Given the description of an element on the screen output the (x, y) to click on. 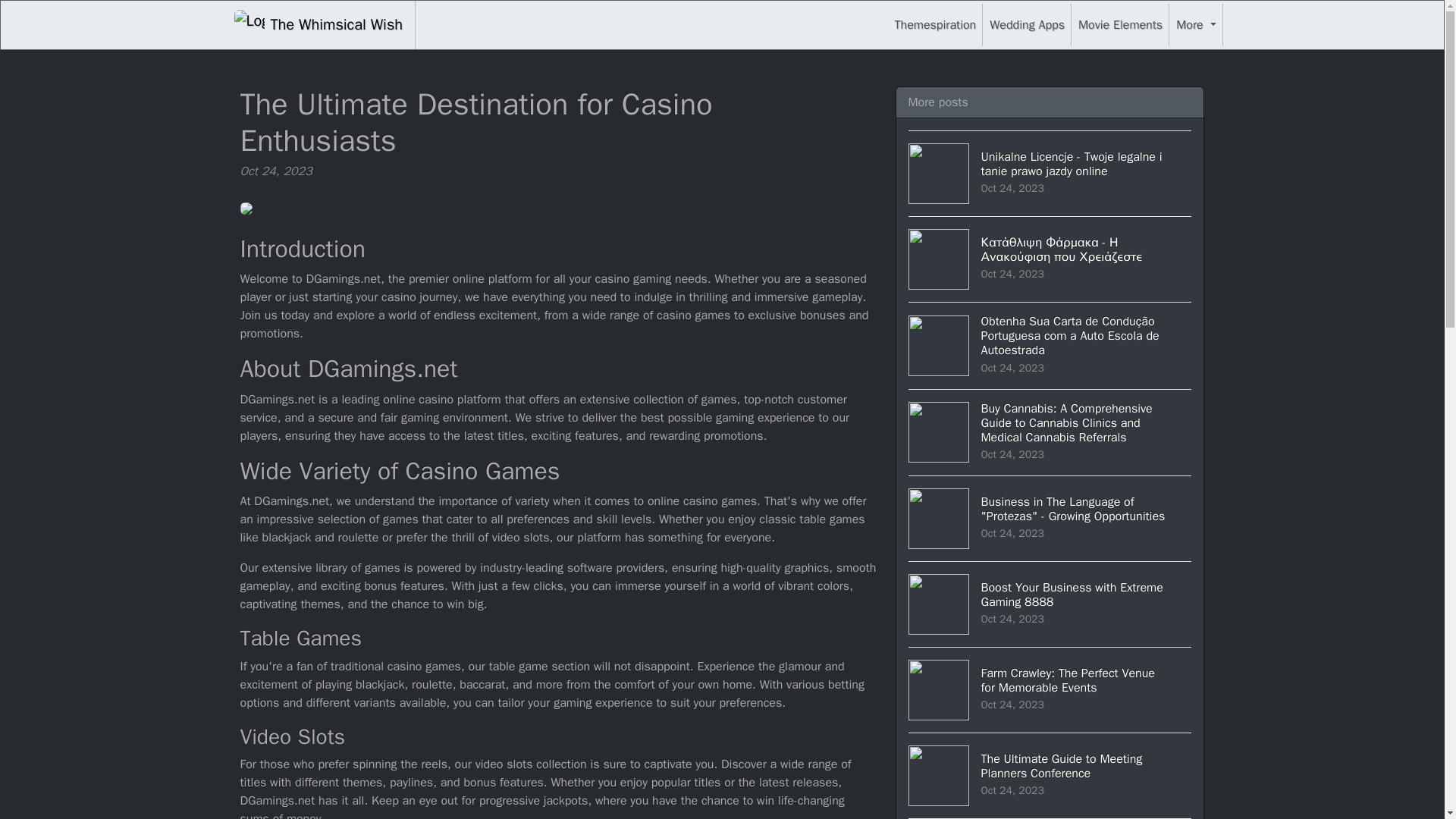
Themespiration (1050, 604)
The Whimsical Wish (936, 24)
Movie Elements (317, 24)
Wedding Apps (1120, 24)
More (1026, 24)
